Given the description of an element on the screen output the (x, y) to click on. 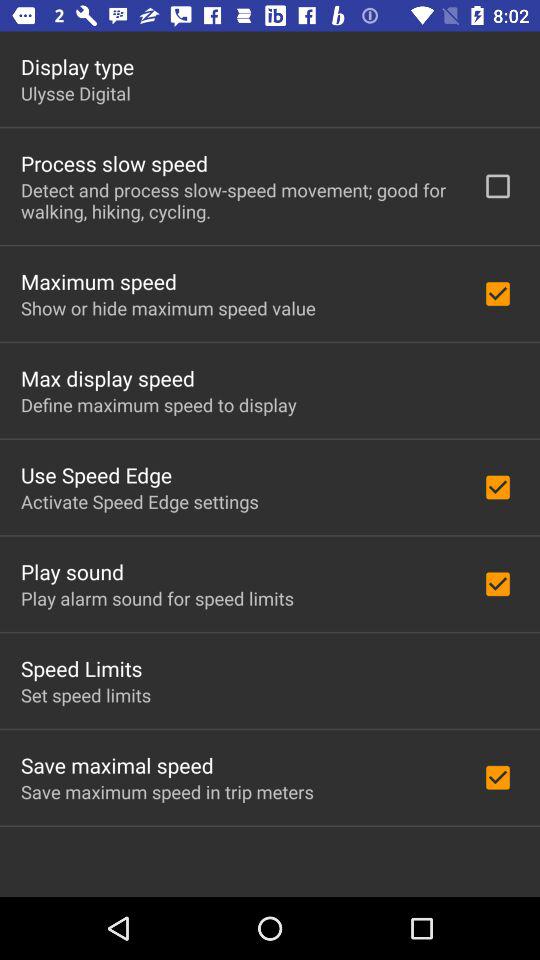
flip to the show or hide icon (168, 307)
